Given the description of an element on the screen output the (x, y) to click on. 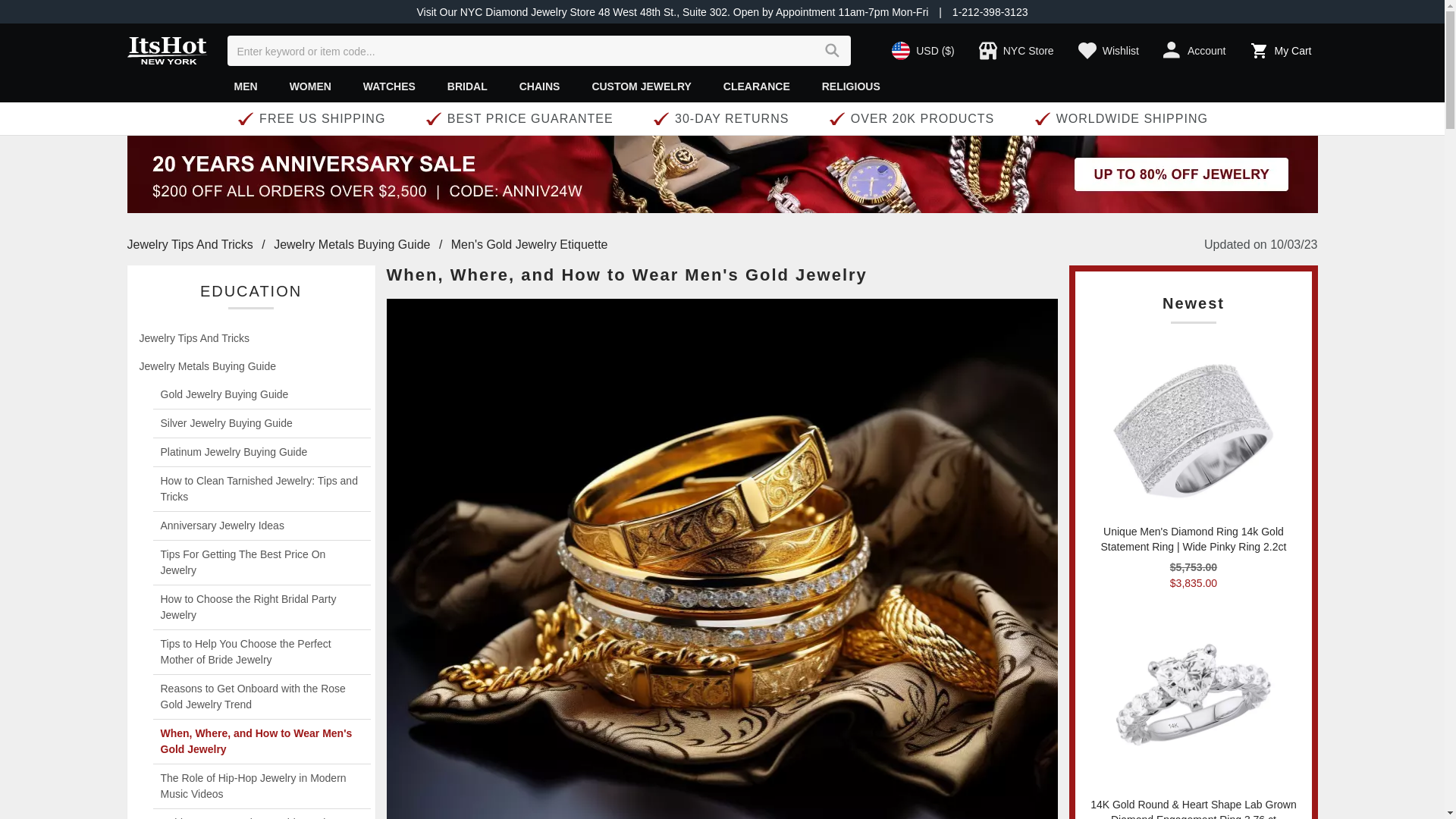
MEN (245, 85)
20th Anniversary (722, 173)
Search (832, 50)
1-212-398-3123 (989, 11)
